Given the description of an element on the screen output the (x, y) to click on. 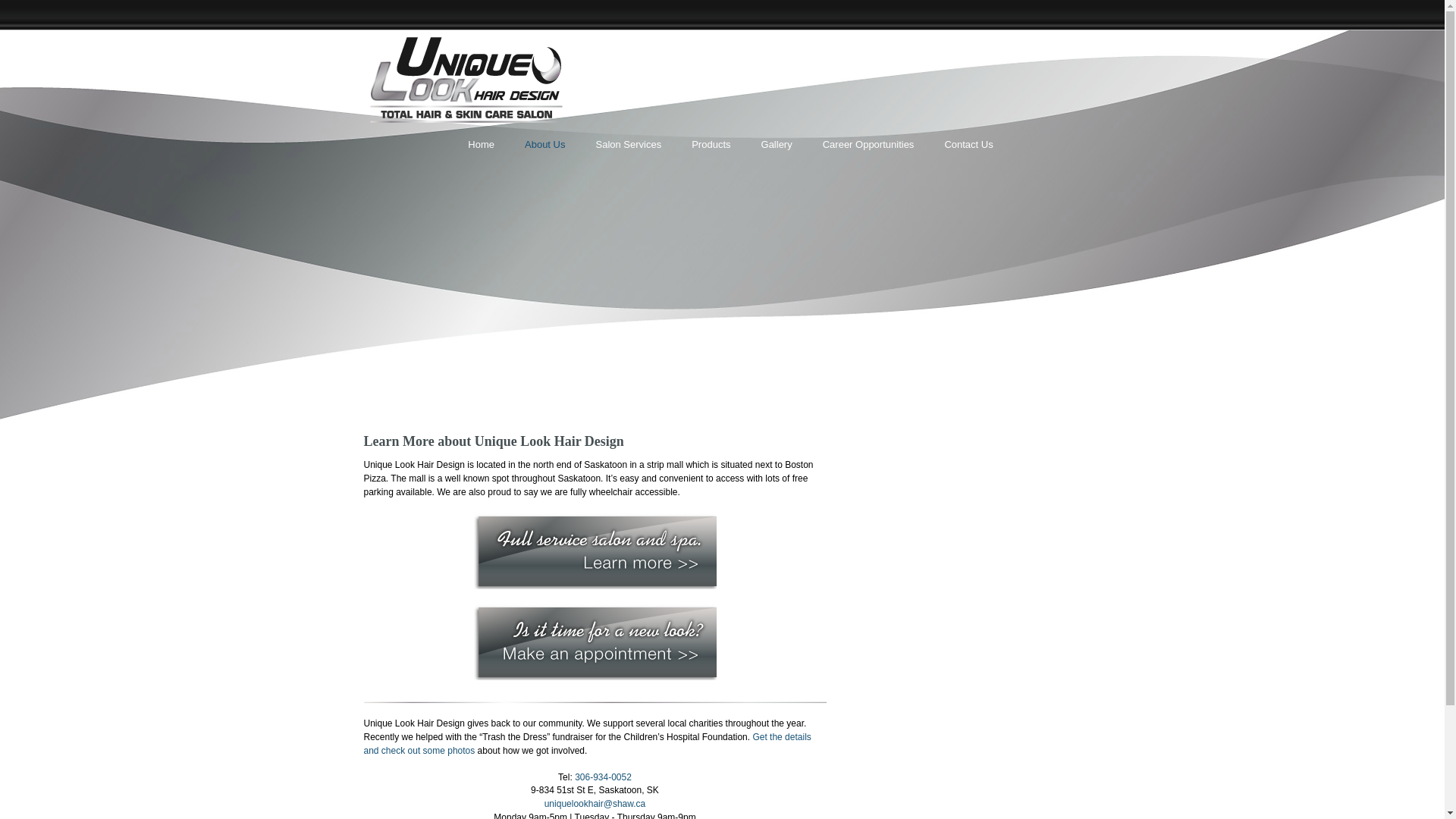
Contact Us (967, 144)
Products (711, 144)
Salon Services (628, 144)
306-934-0052 (603, 777)
Get the details and check out some photos (587, 743)
Gallery (776, 144)
Home (480, 144)
Career Opportunities (869, 144)
About Us (544, 144)
